Given the description of an element on the screen output the (x, y) to click on. 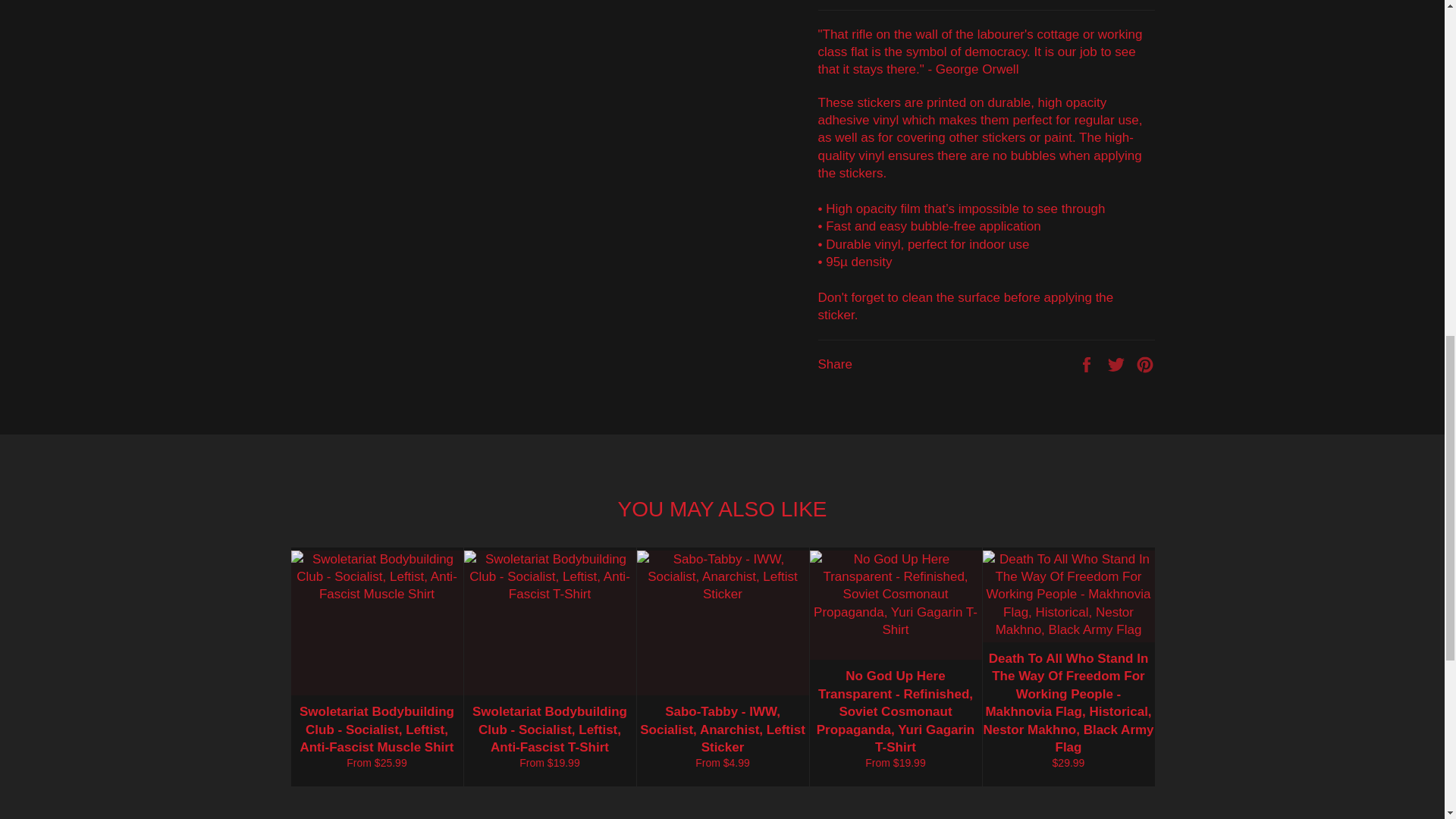
Tweet on Twitter (1117, 364)
Pin on Pinterest (1144, 364)
Share on Facebook (1088, 364)
